Given the description of an element on the screen output the (x, y) to click on. 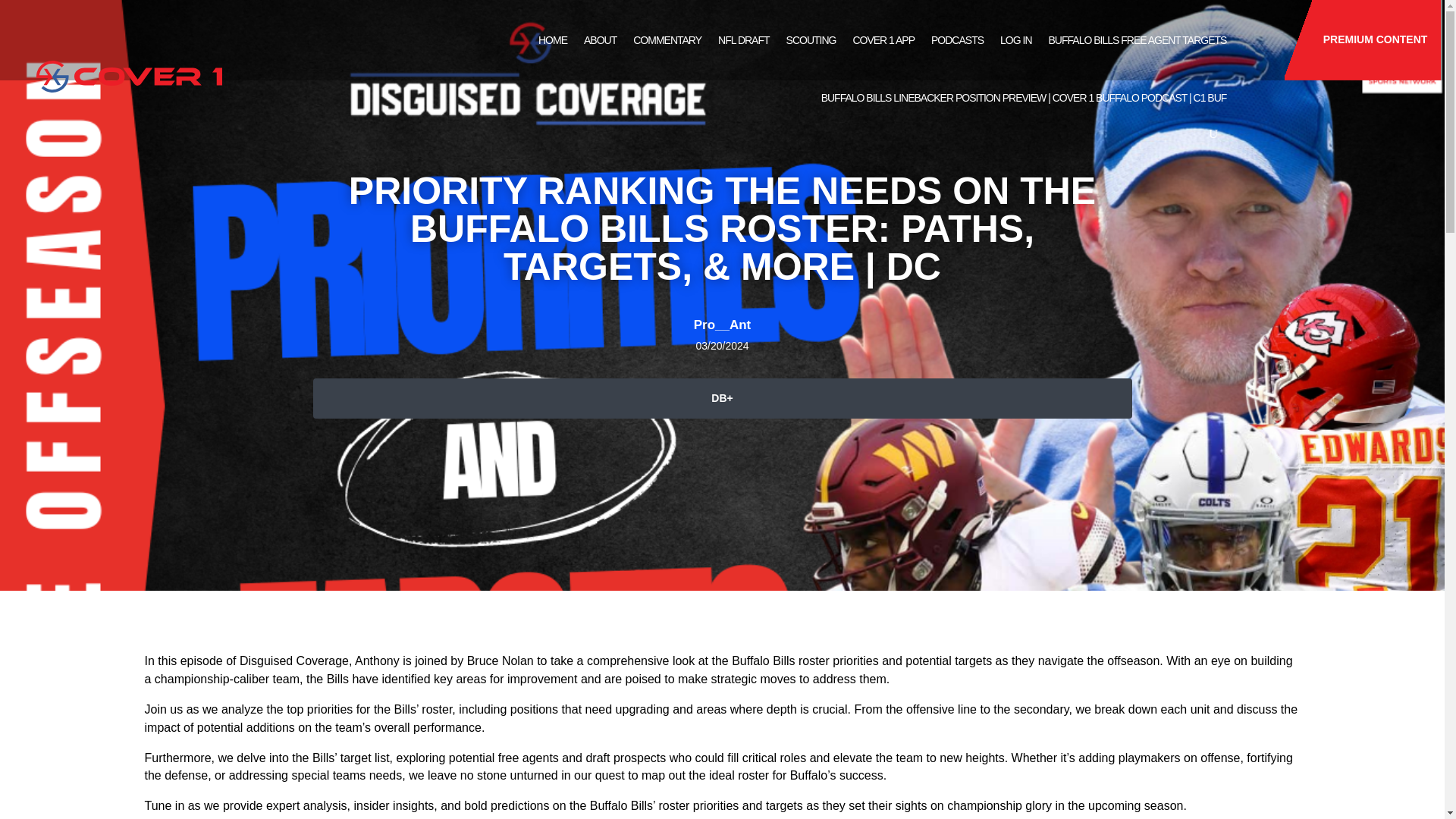
COVER 1 APP (882, 39)
PREMIUM CONTENT (1362, 40)
PODCASTS (957, 39)
COMMENTARY (667, 39)
BUFFALO BILLS FREE AGENT TARGETS (1137, 39)
